Given the description of an element on the screen output the (x, y) to click on. 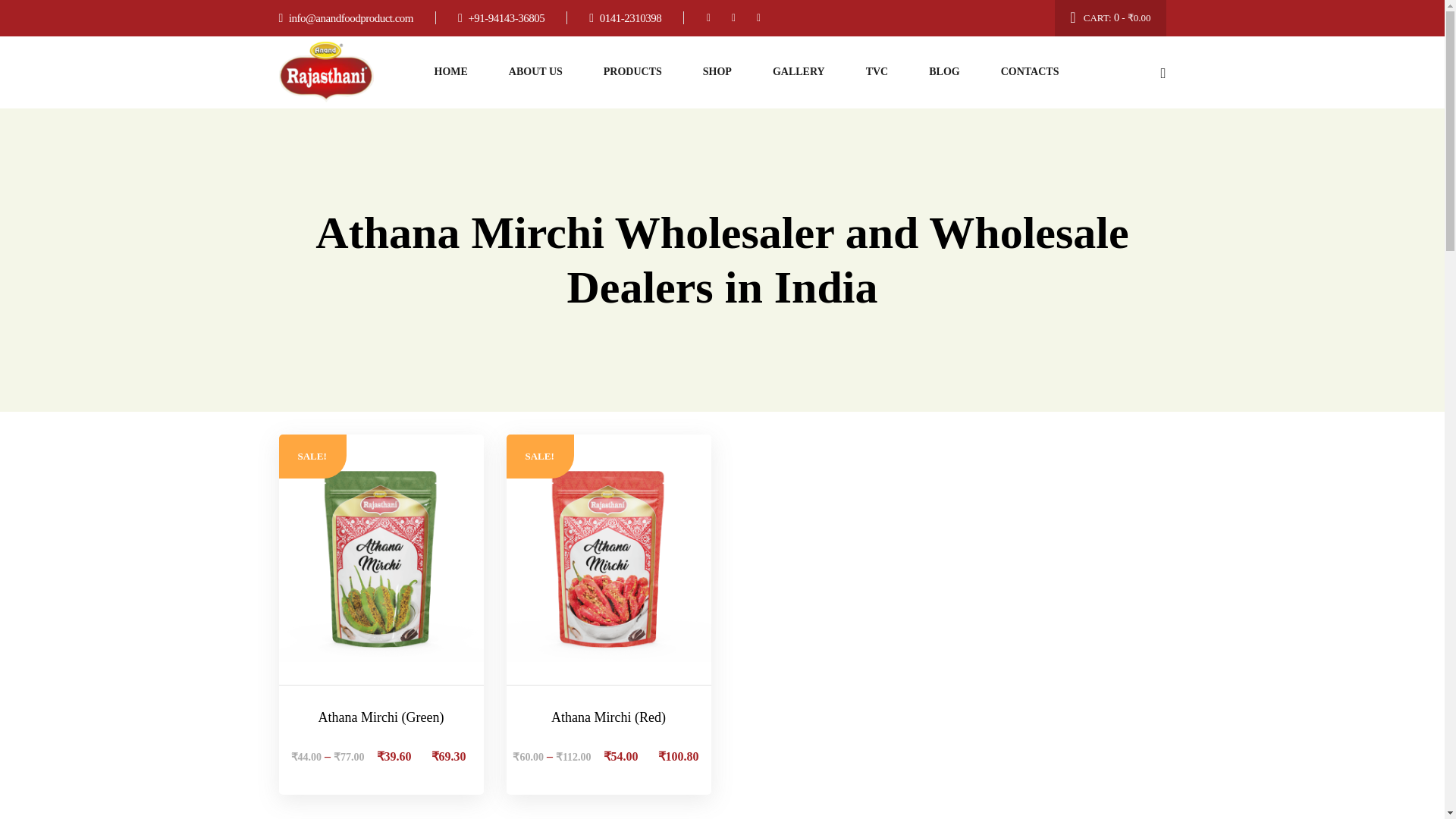
0141-2310398 (624, 18)
Twitter (733, 17)
View your shopping cart (1110, 18)
Facebook (708, 17)
Instagram (759, 17)
